Given the description of an element on the screen output the (x, y) to click on. 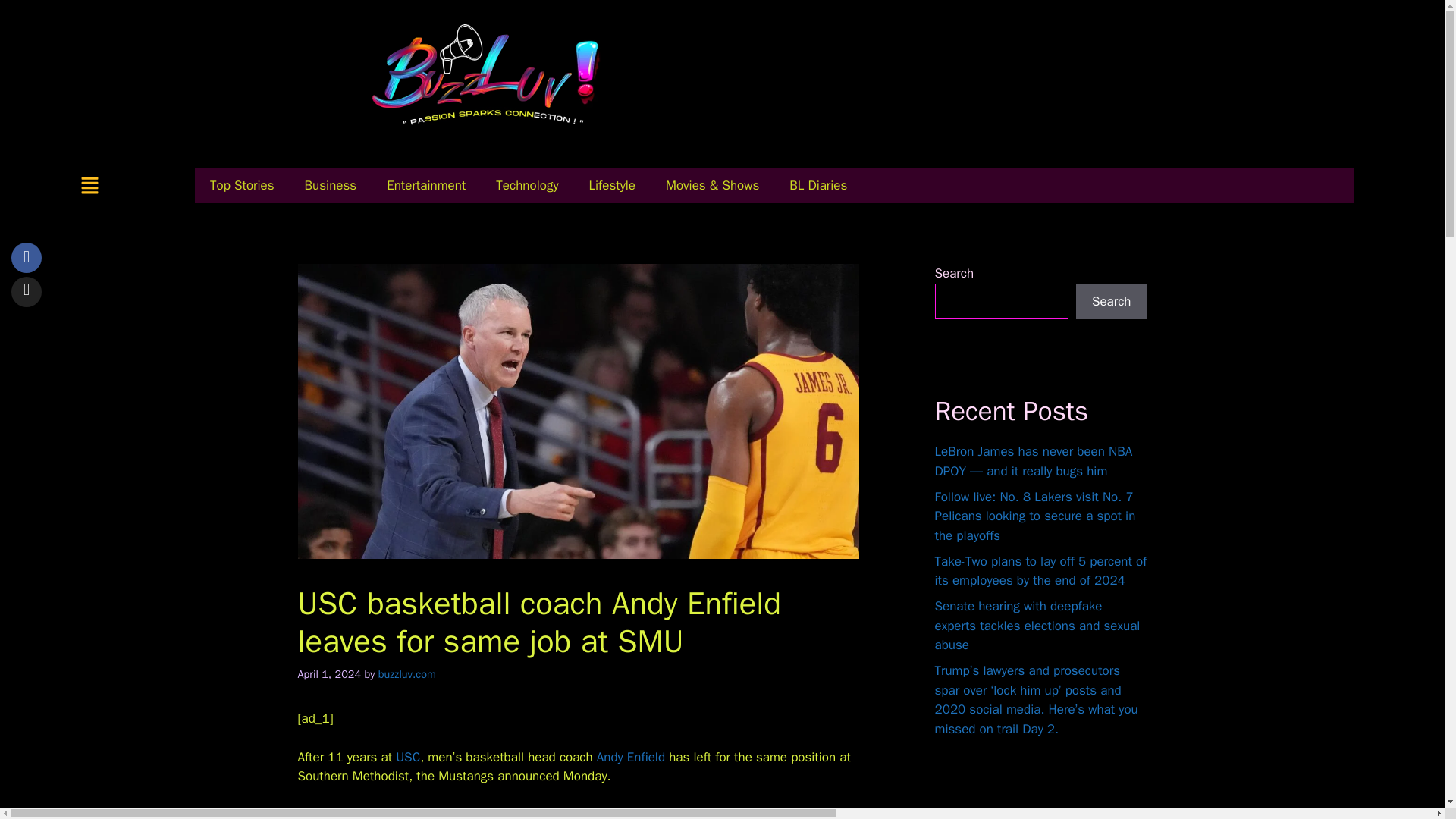
Technology (526, 185)
View all posts by buzzluv.com (406, 673)
buzzluv.com (406, 673)
Andy Enfield (630, 756)
Lifestyle (611, 185)
Top Stories (242, 185)
Entertainment (425, 185)
Business (329, 185)
USC (408, 756)
BL Diaries (817, 185)
